Given the description of an element on the screen output the (x, y) to click on. 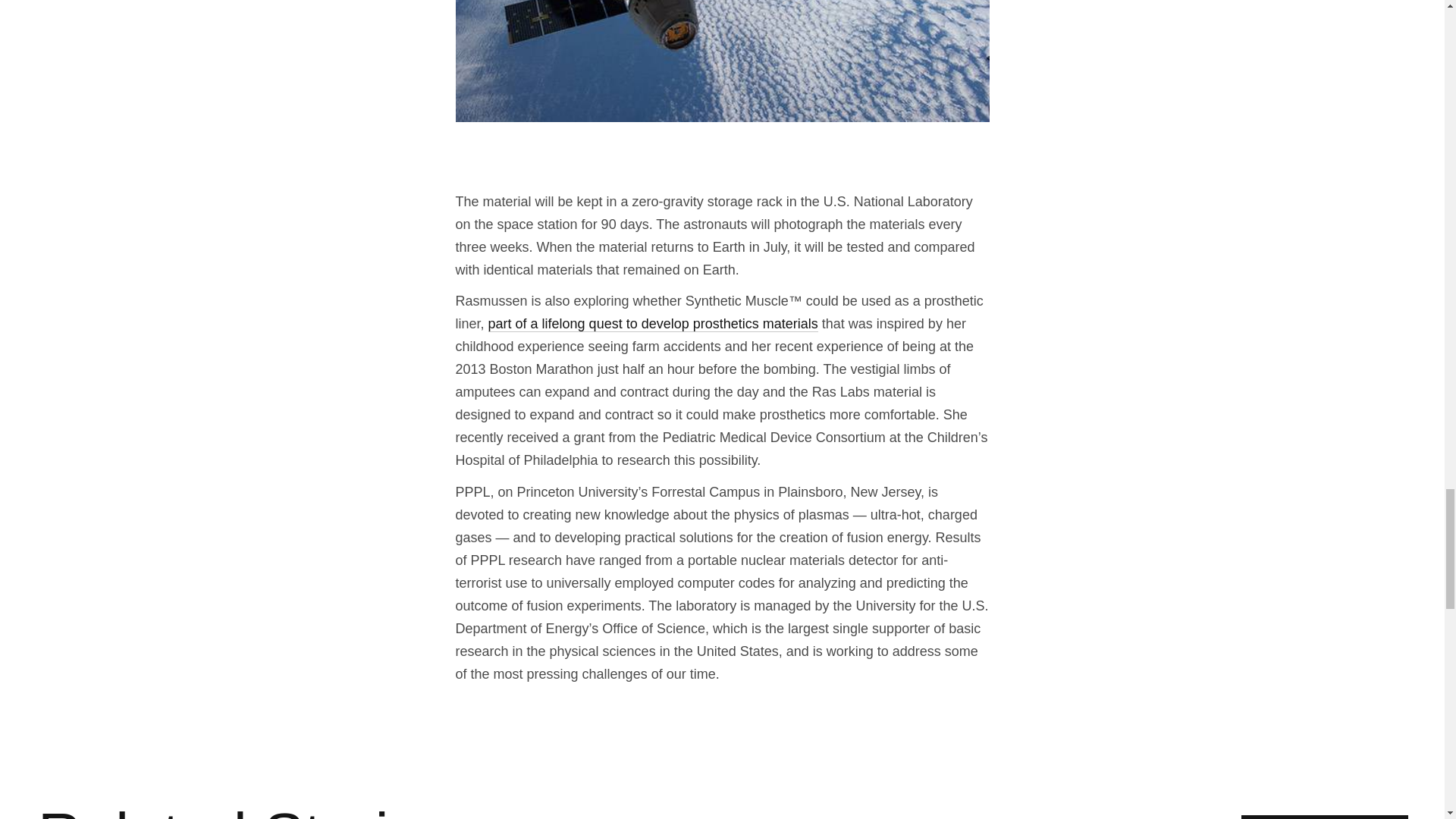
part of a lifelong quest to develop prosthetics materials (652, 324)
VIEW ALL NEWS (1324, 816)
